Given the description of an element on the screen output the (x, y) to click on. 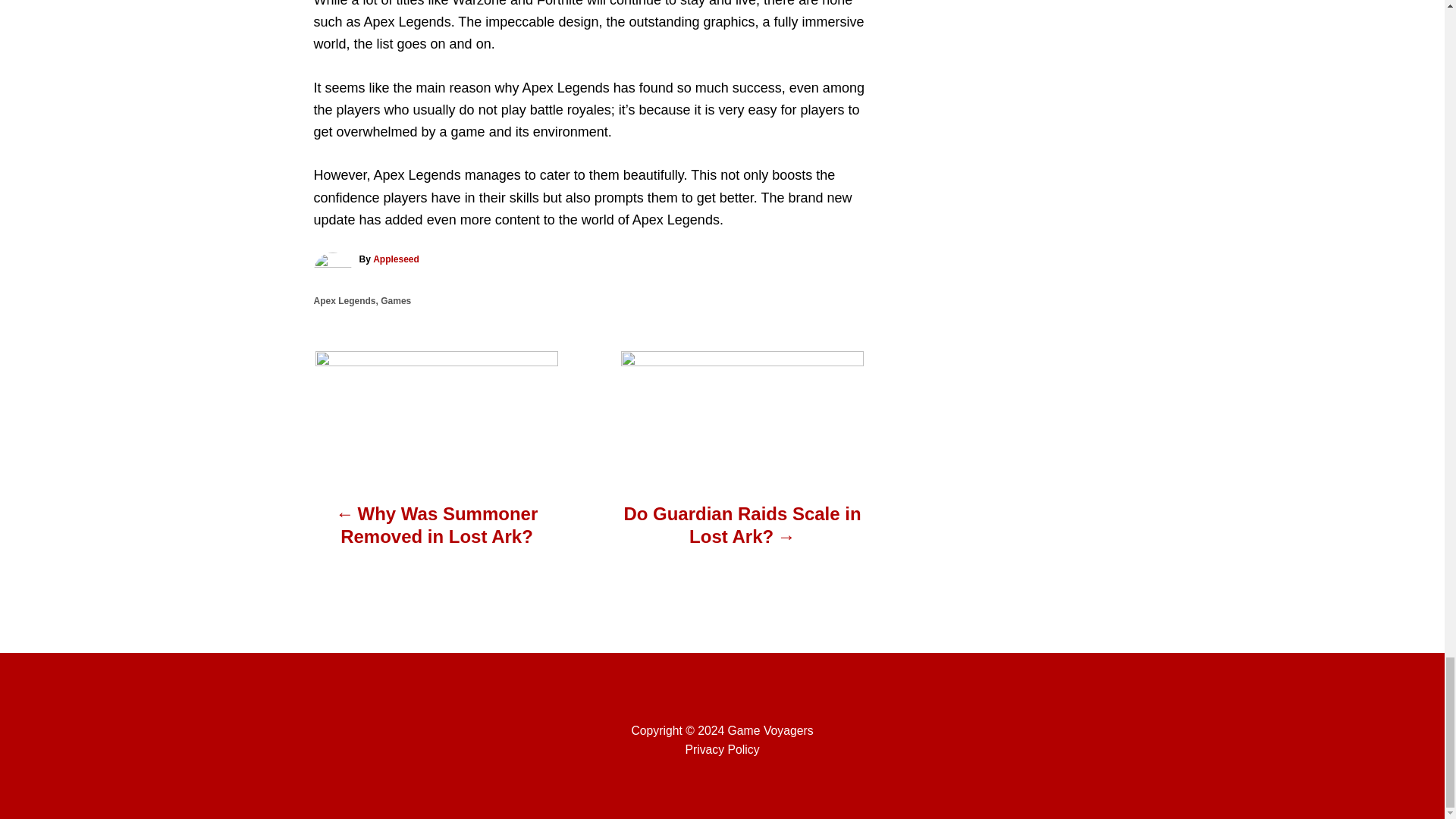
Why Was Summoner Removed in Lost Ark? (437, 532)
Do Guardian Raids Scale in Lost Ark? (741, 532)
Privacy Policy (721, 748)
Games (395, 300)
Apex Legends (344, 300)
Appleseed (395, 258)
